Given the description of an element on the screen output the (x, y) to click on. 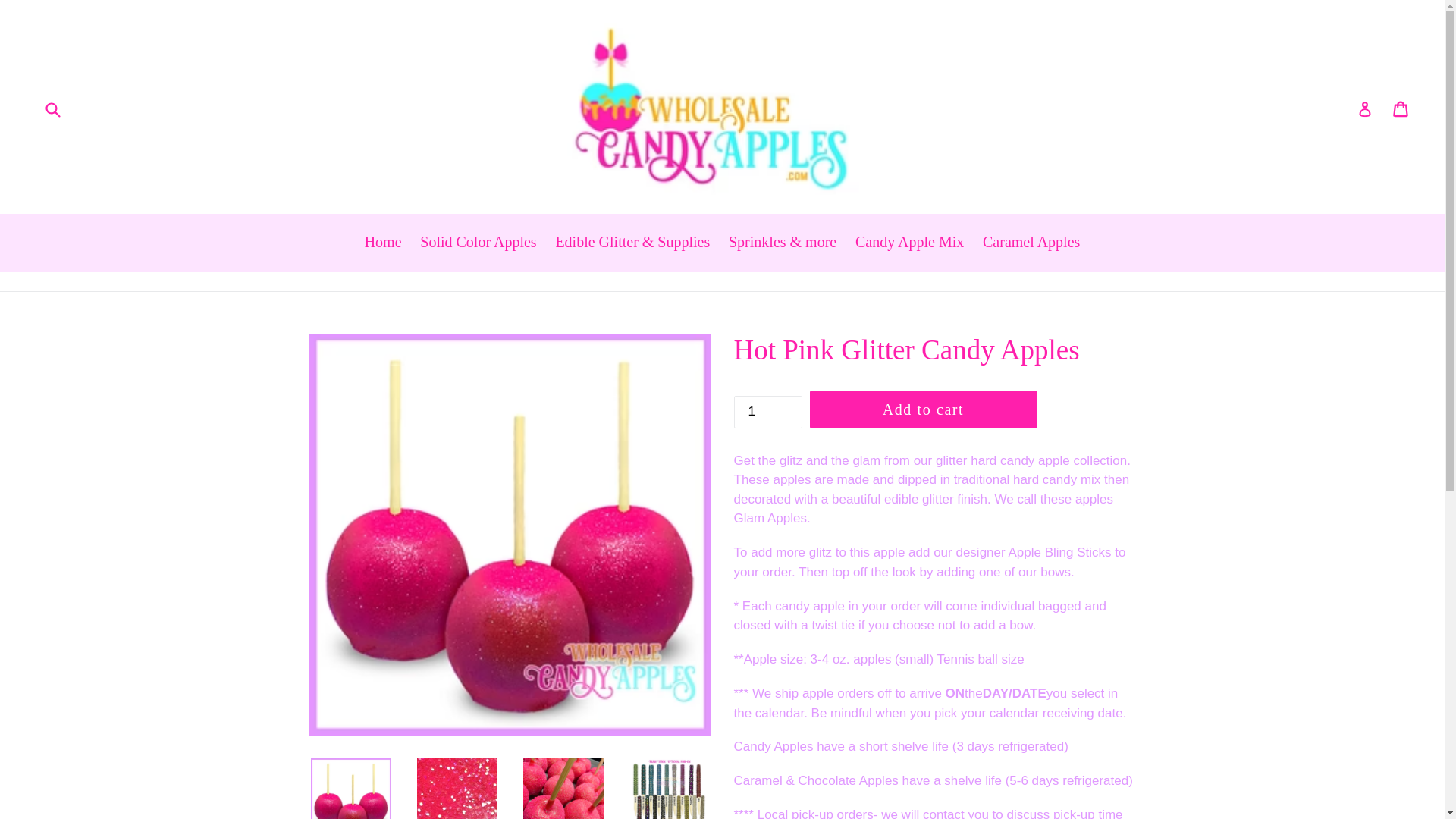
Candy Apple Mix (909, 242)
1 (767, 411)
Add to cart (922, 409)
Home (382, 242)
Solid Color Apples (477, 242)
Caramel Apples (1031, 242)
